Given the description of an element on the screen output the (x, y) to click on. 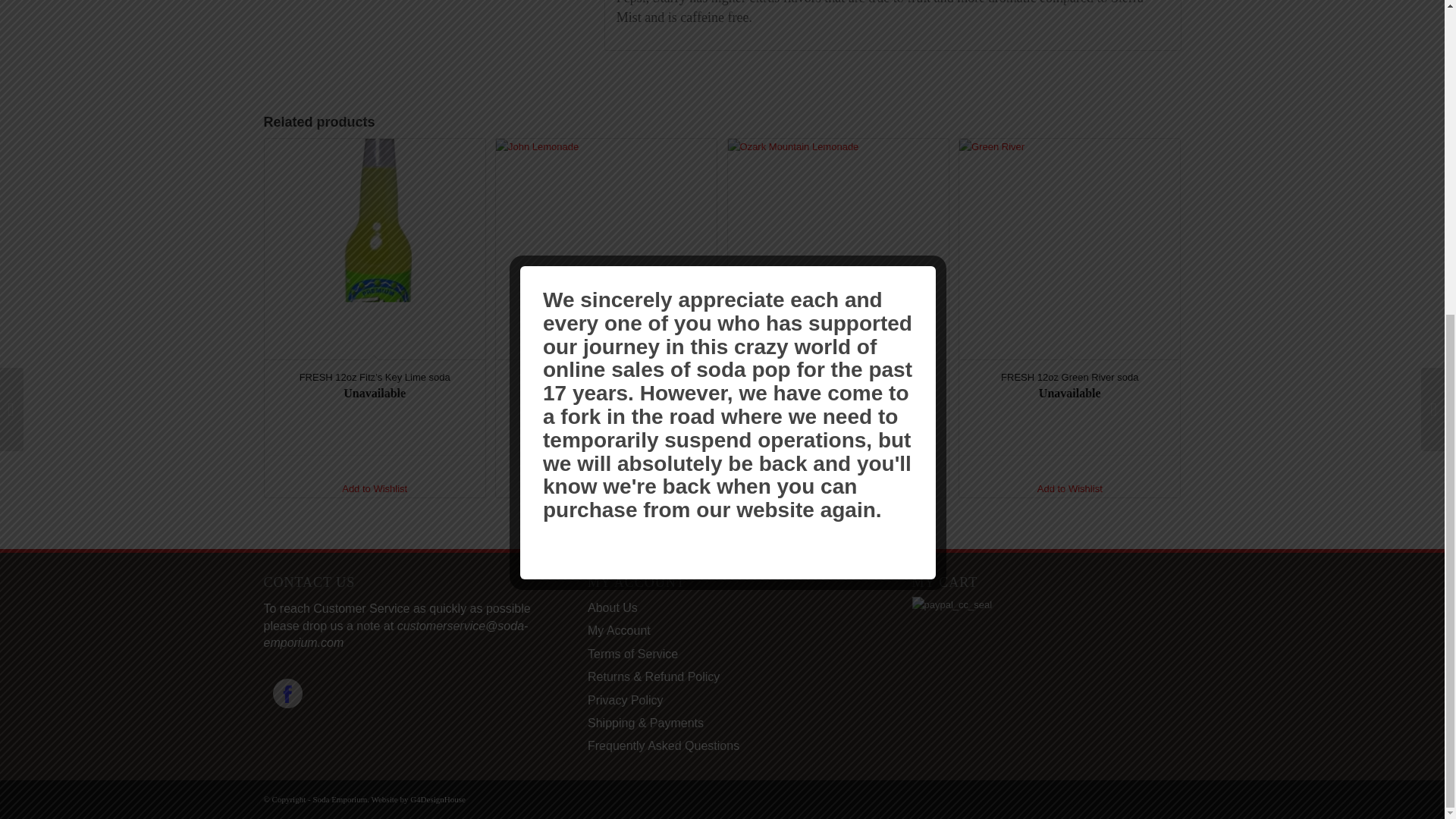
Add to Wishlist (373, 488)
